Given the description of an element on the screen output the (x, y) to click on. 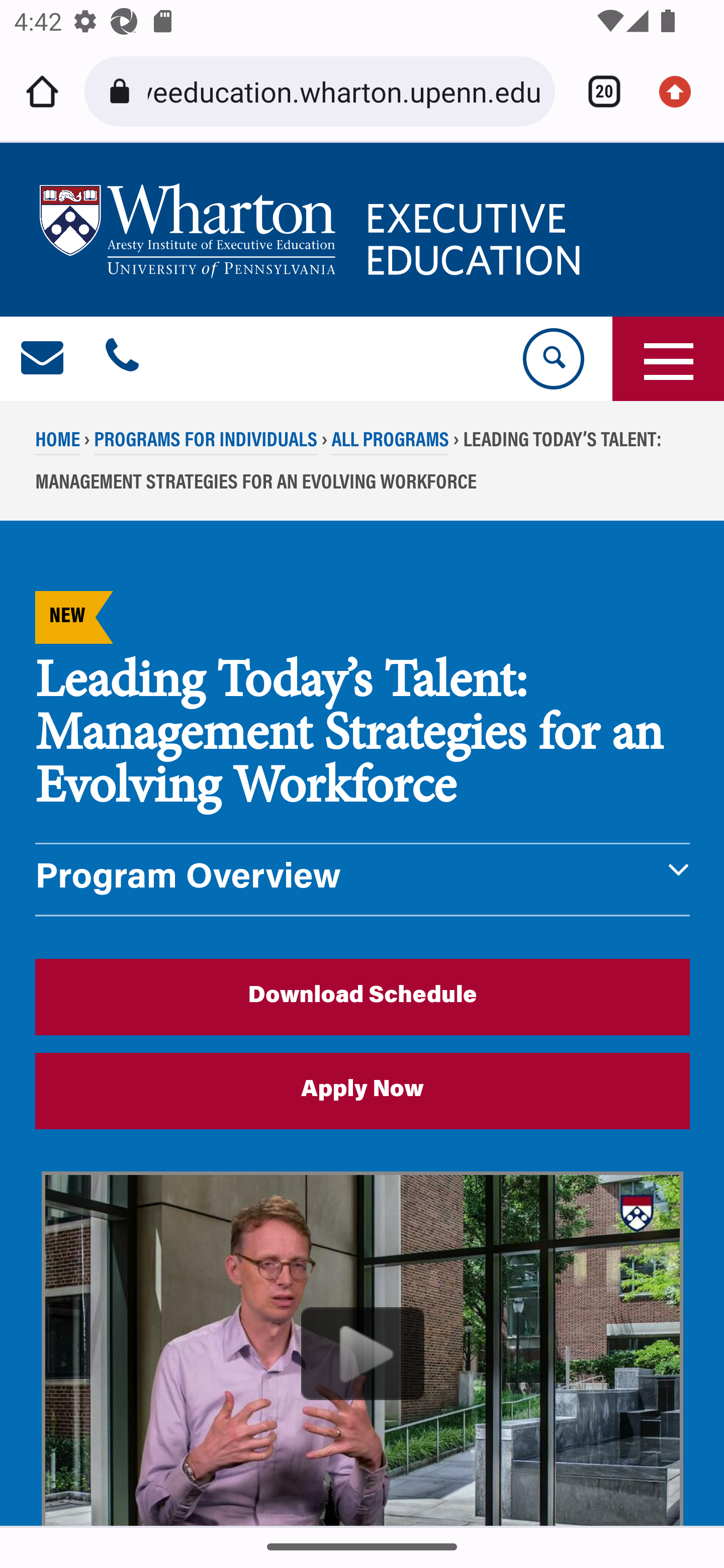
Home (42, 91)
Connection is secure (122, 91)
Switch or close tabs (597, 91)
Update available. More options (681, 91)
Wharton Executive Education (313, 230)
 (43, 358)
 (122, 358)
Mobile menu toggle (668, 358)
 Search Wharton  (552, 358)
HOME (58, 441)
PROGRAMS FOR INDIVIDUALS (205, 441)
ALL PROGRAMS (390, 441)
Program Overview  (362, 879)
Download Schedule (363, 996)
Apply Now (363, 1090)
Play video content LEAD Overview - Matthew Bidwell (363, 1349)
